Given the description of an element on the screen output the (x, y) to click on. 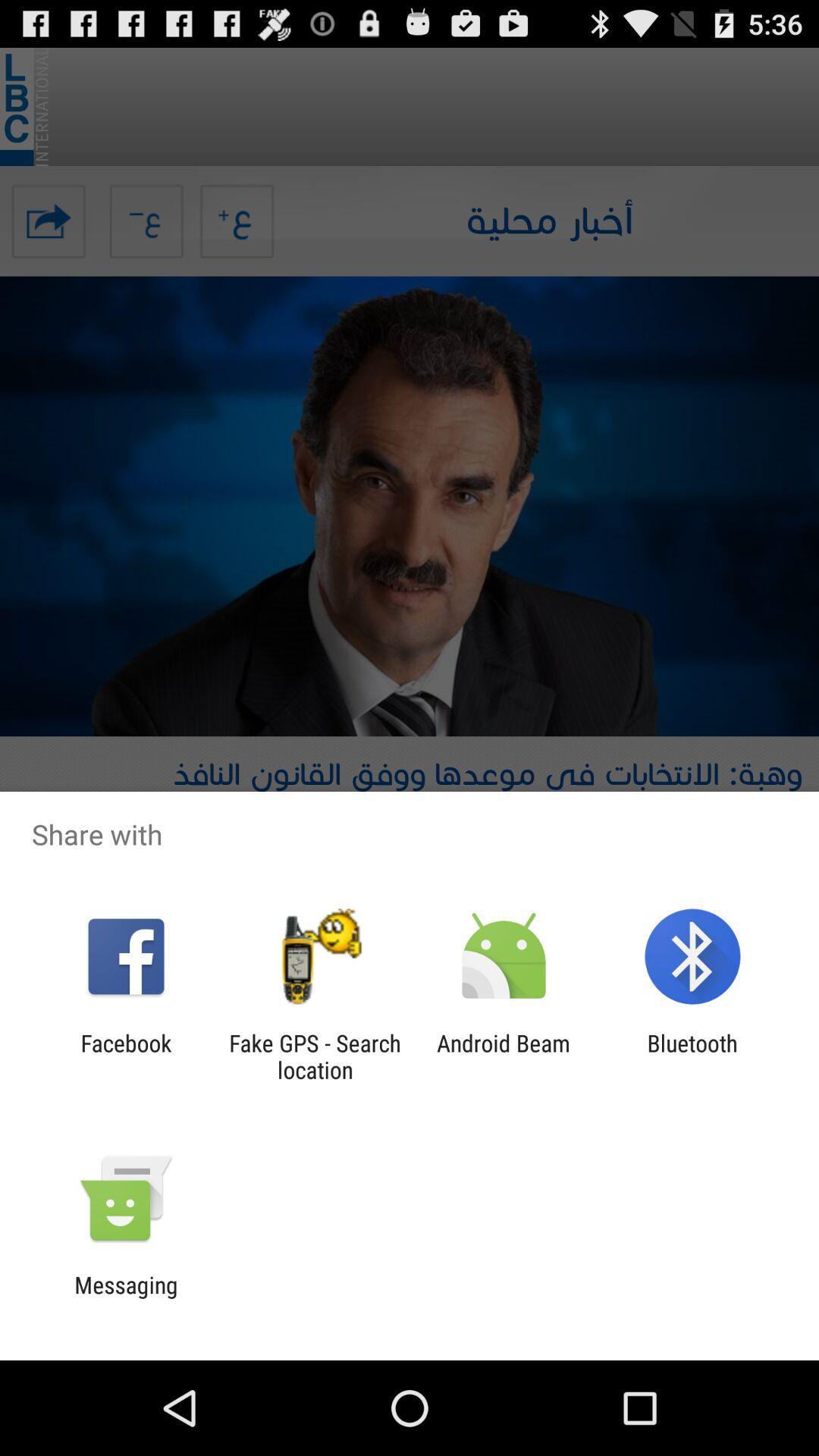
tap the app to the left of bluetooth icon (503, 1056)
